Given the description of an element on the screen output the (x, y) to click on. 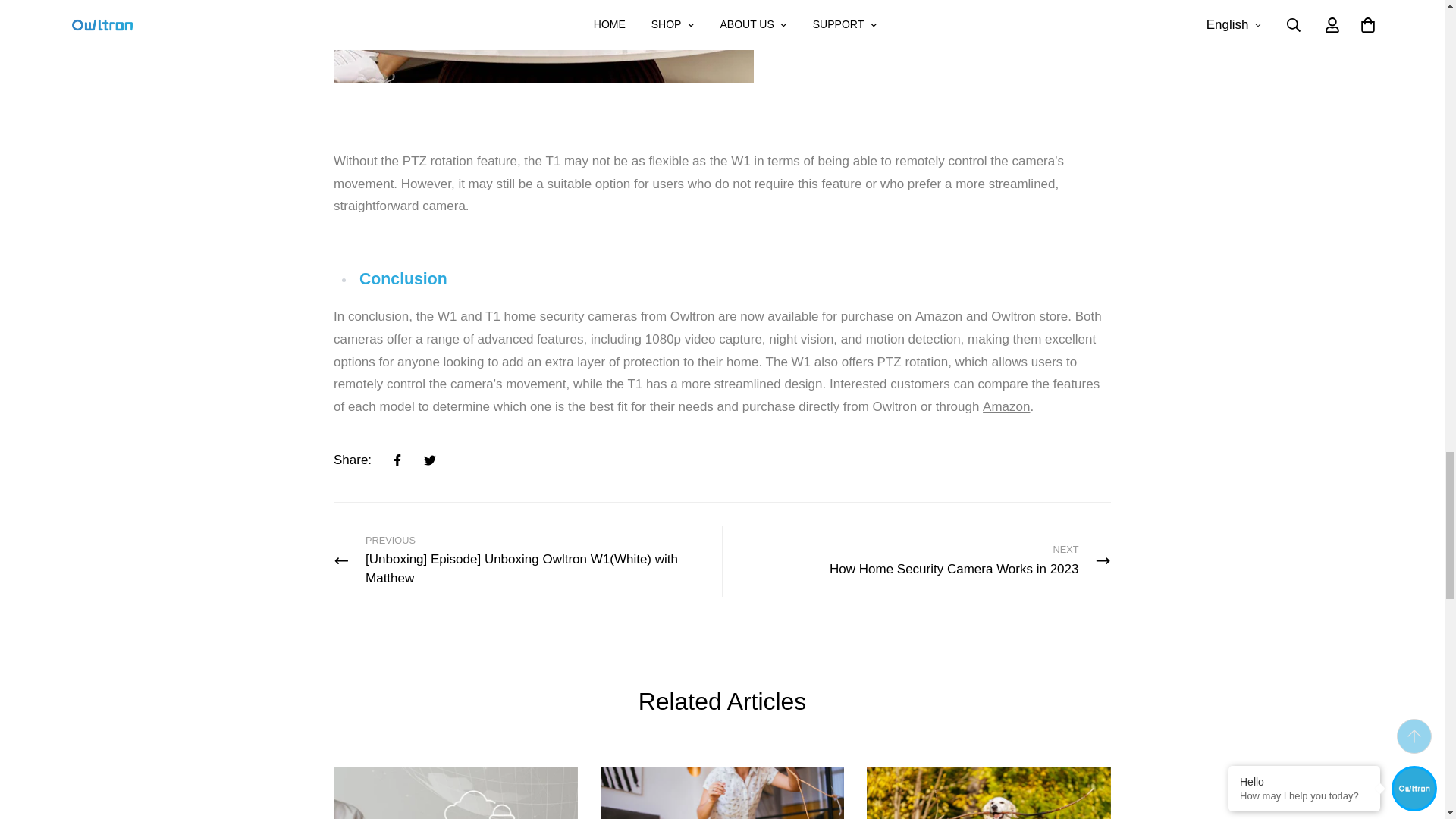
Amazon listing for Owltron T1 Canada (938, 316)
